Given the description of an element on the screen output the (x, y) to click on. 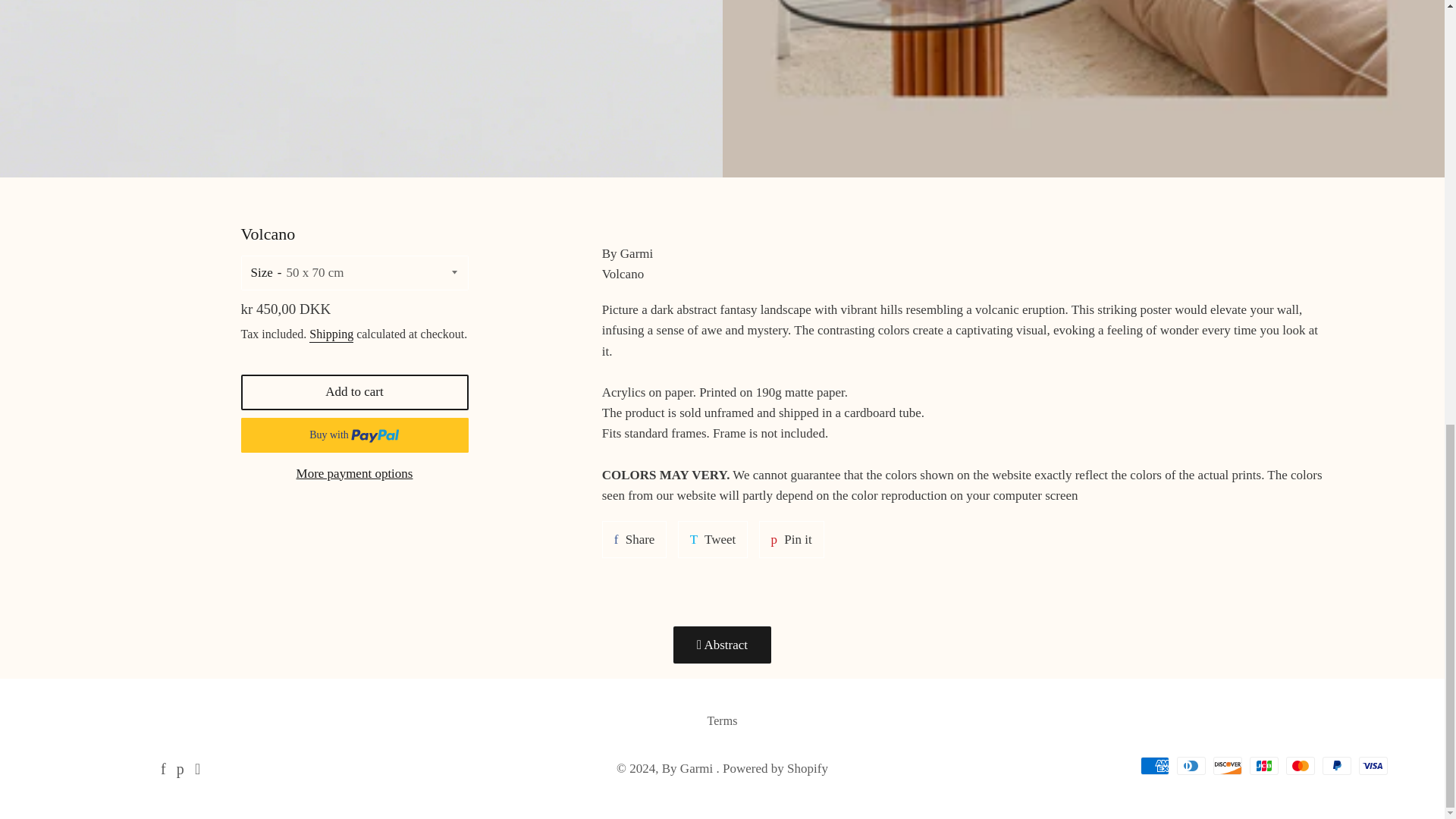
More payment options (354, 473)
Abstract (721, 644)
Pin on Pinterest (791, 538)
Tweet on Twitter (713, 538)
Diners Club (1190, 765)
JCB (634, 538)
By Garmi (1263, 765)
Visa (689, 768)
PayPal (1372, 765)
